Given the description of an element on the screen output the (x, y) to click on. 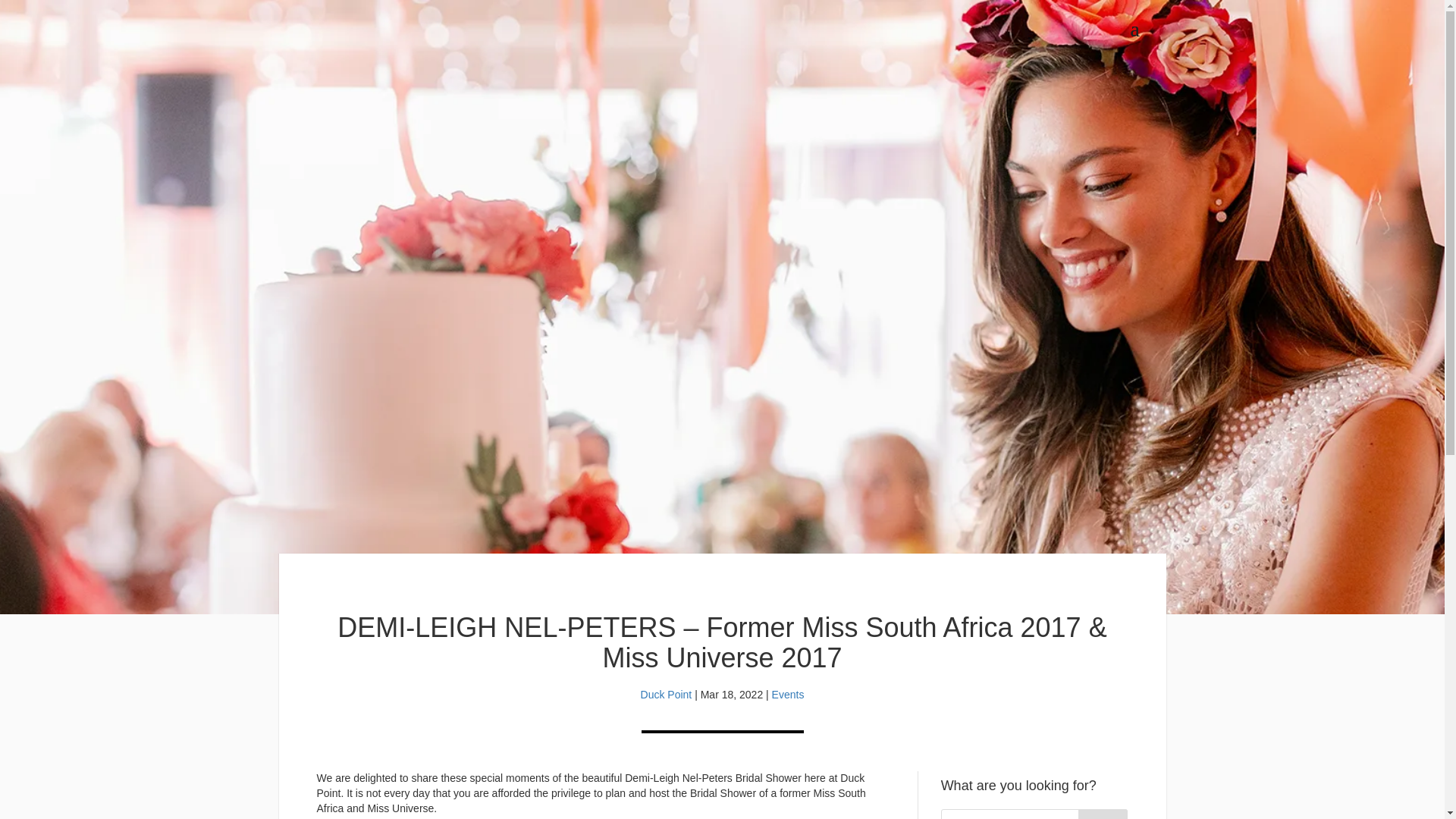
Search (1103, 814)
Posts by Duck Point (666, 694)
Search (1103, 814)
Events (788, 694)
Duck Point (666, 694)
